Given the description of an element on the screen output the (x, y) to click on. 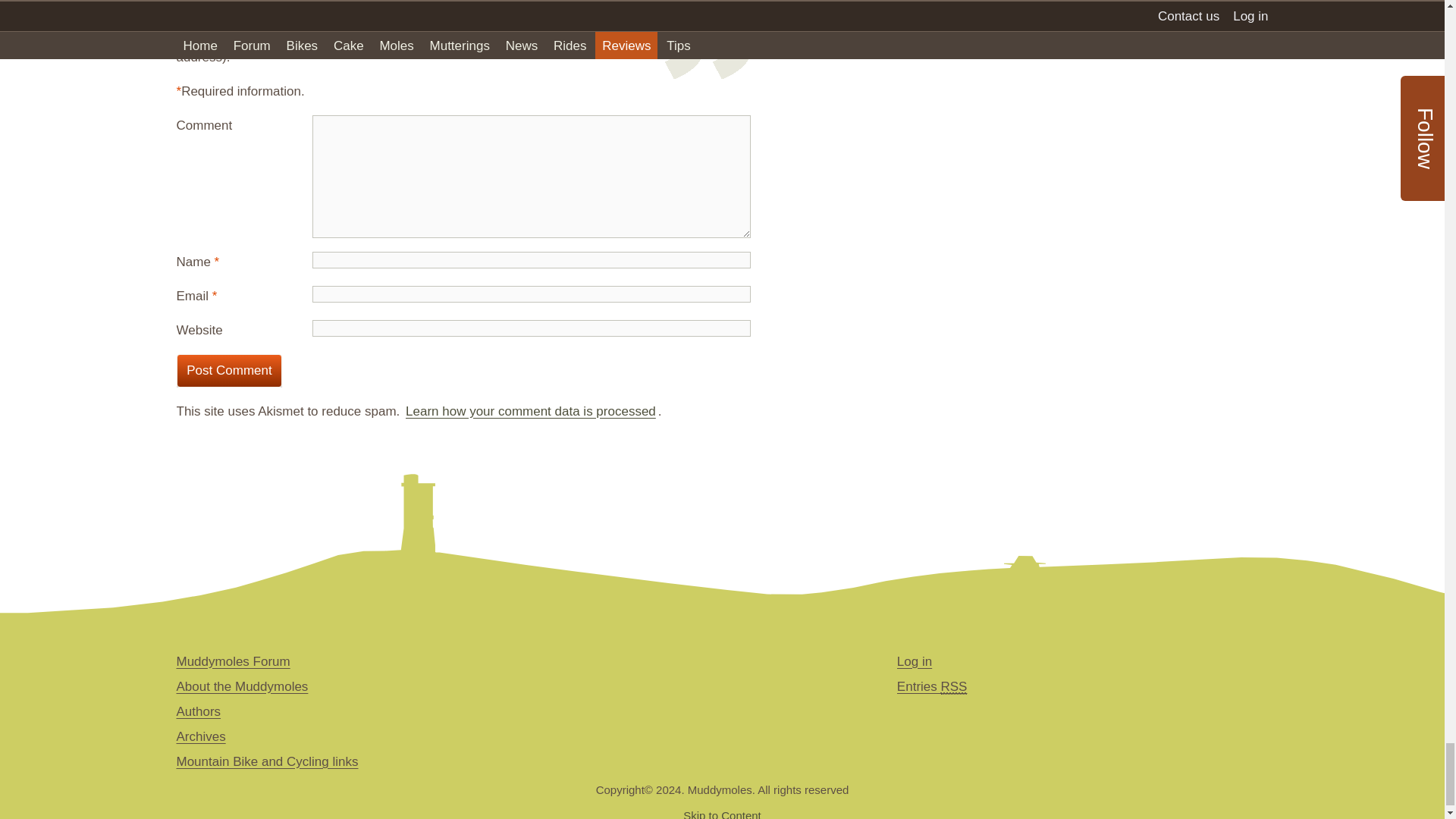
Post Comment (229, 370)
